Given the description of an element on the screen output the (x, y) to click on. 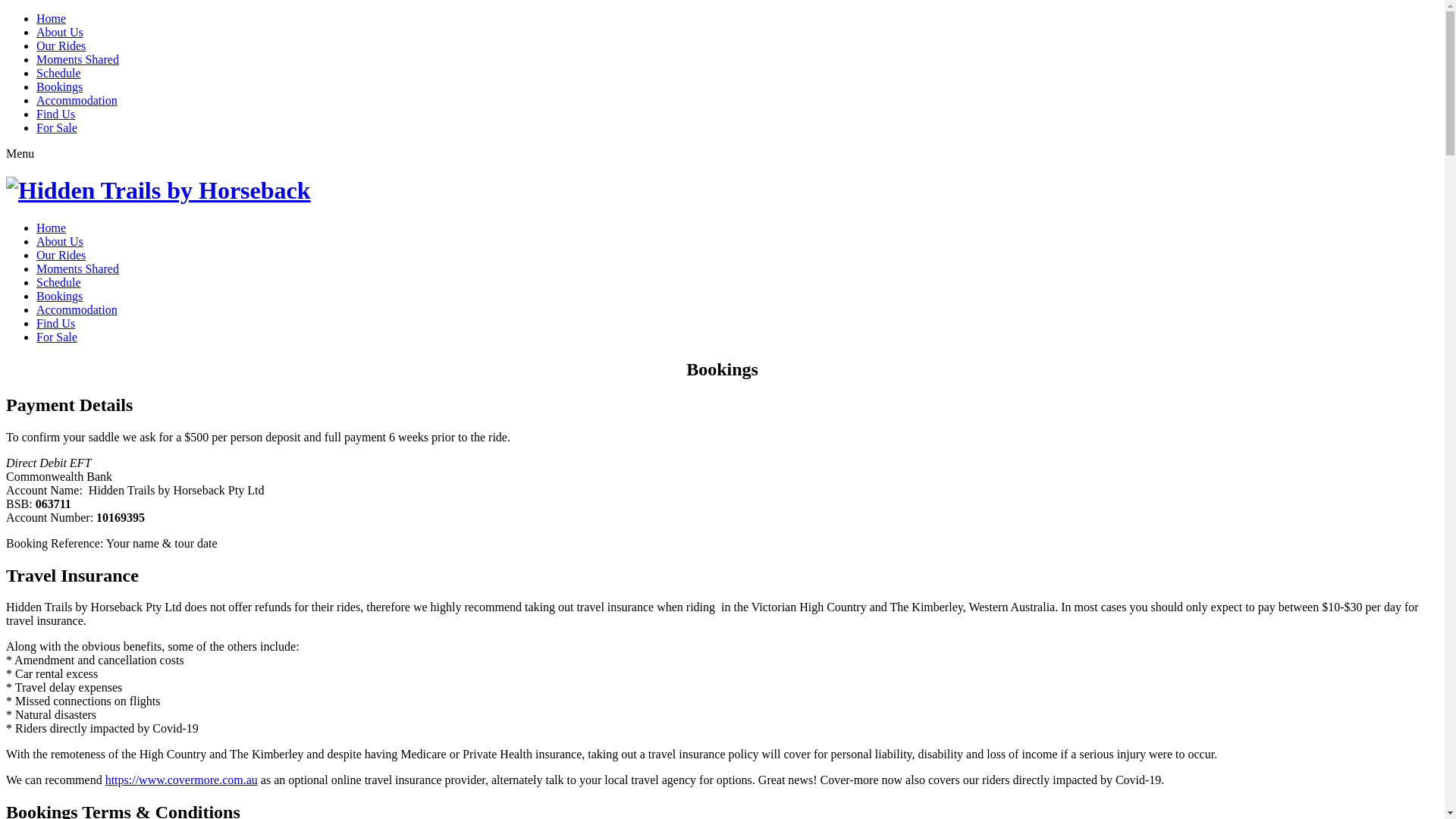
https://www.covermore.com.au Element type: text (181, 779)
Moments Shared Element type: text (77, 59)
Accommodation Element type: text (76, 309)
For Sale Element type: text (56, 127)
Bookings Element type: text (59, 86)
Menu Element type: text (20, 153)
Find Us Element type: text (55, 113)
Schedule Element type: text (58, 72)
Our Rides Element type: text (60, 45)
Home Element type: text (50, 227)
About Us Element type: text (59, 241)
Moments Shared Element type: text (77, 268)
About Us Element type: text (59, 31)
Home Element type: text (50, 18)
Schedule Element type: text (58, 282)
Find Us Element type: text (55, 322)
For Sale Element type: text (56, 336)
Accommodation Element type: text (76, 100)
Bookings Element type: text (59, 295)
Our Rides Element type: text (60, 254)
